Given the description of an element on the screen output the (x, y) to click on. 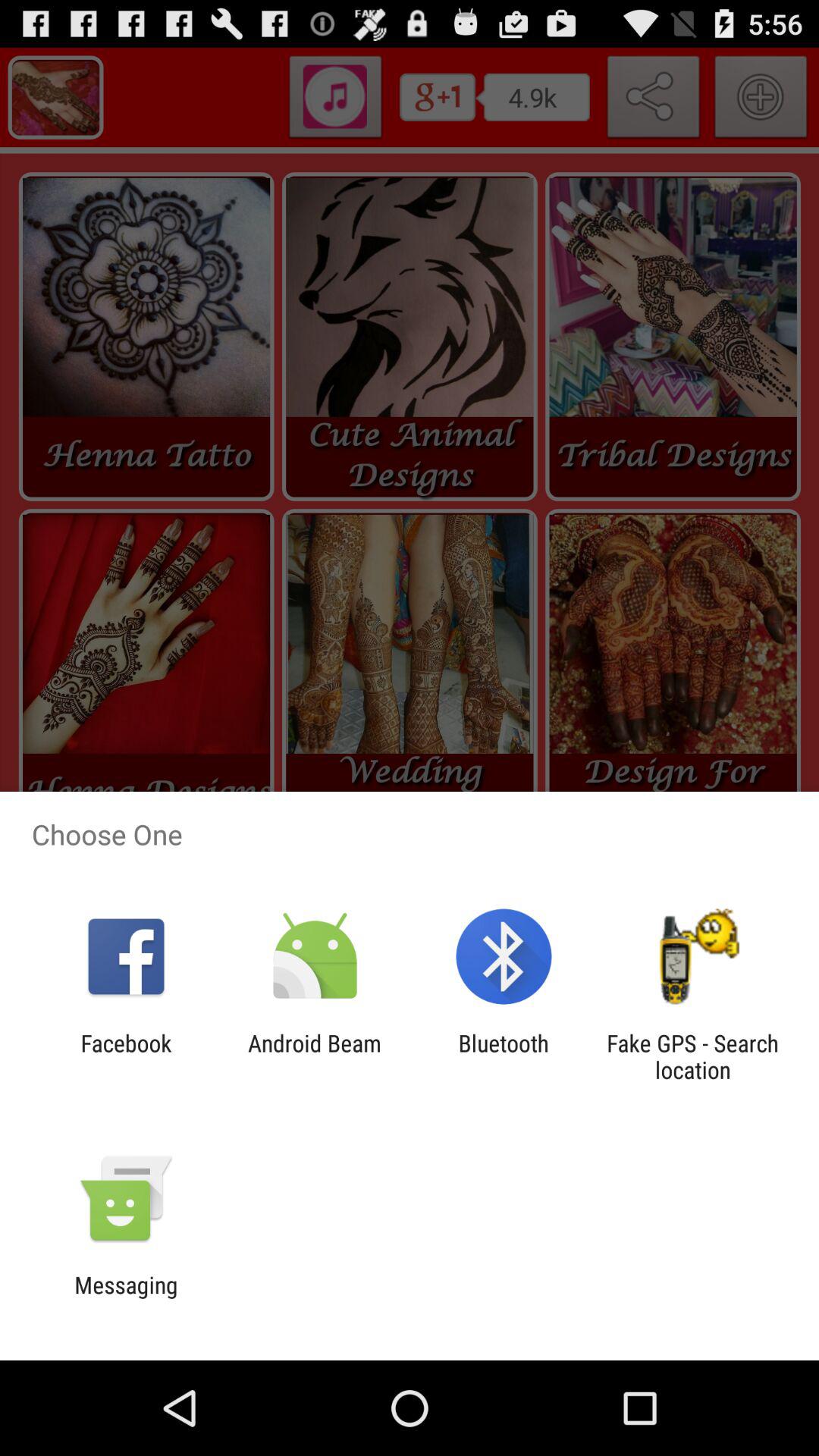
choose the item to the left of fake gps search item (503, 1056)
